Given the description of an element on the screen output the (x, y) to click on. 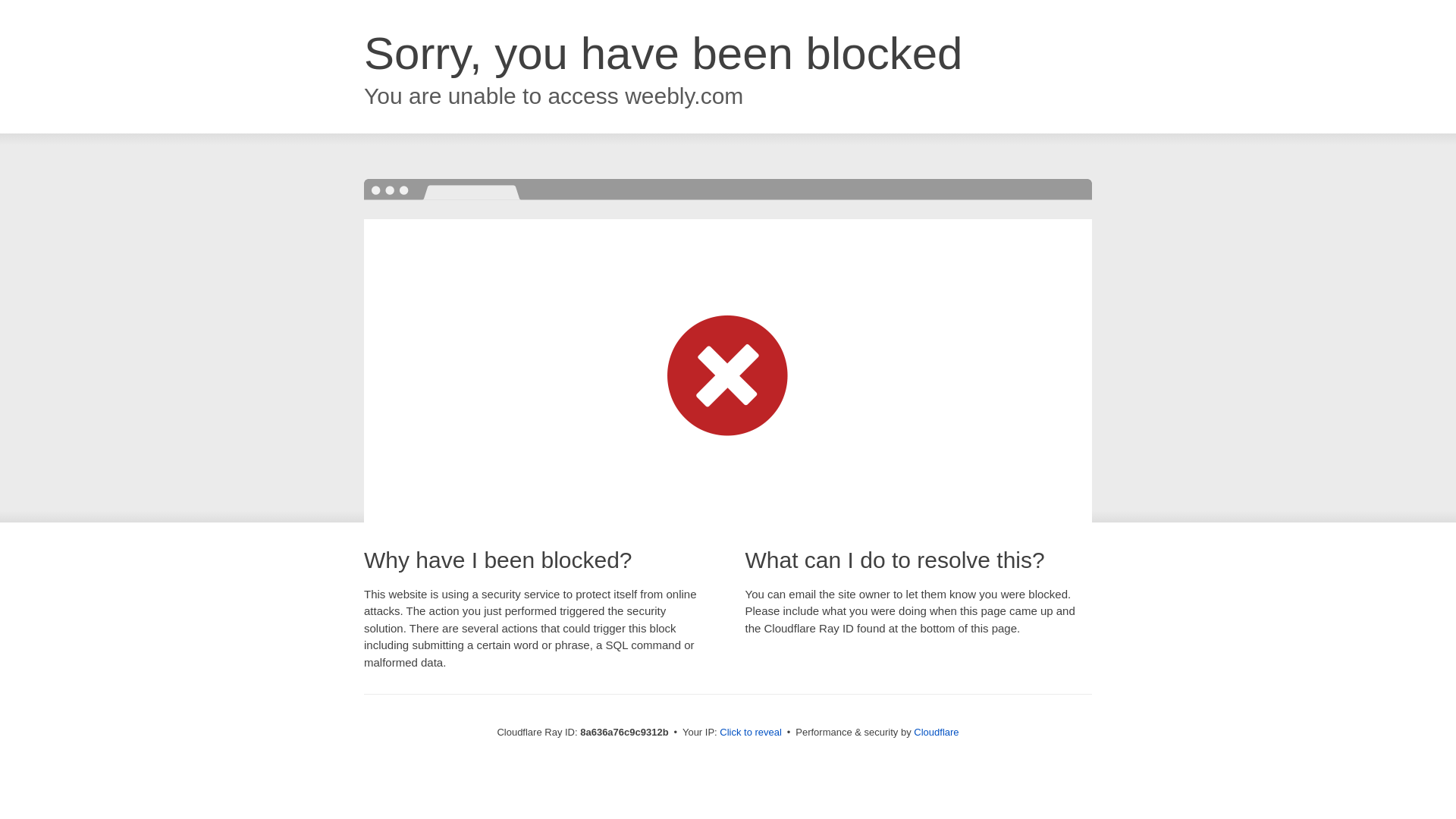
Cloudflare (936, 731)
Click to reveal (750, 732)
